Given the description of an element on the screen output the (x, y) to click on. 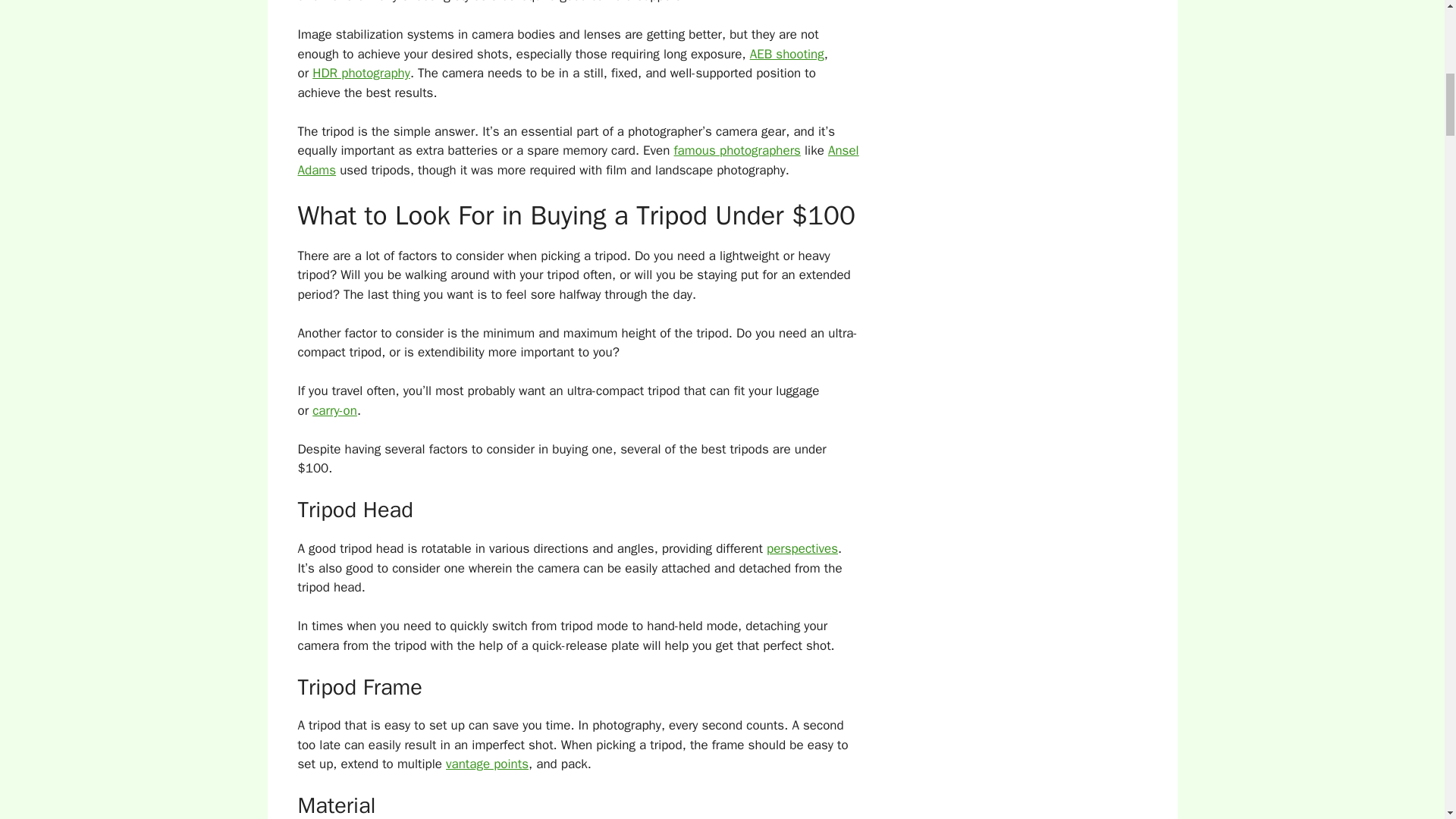
vantage points (486, 763)
carry-on (334, 410)
famous photographers (737, 150)
Ansel Adams (578, 160)
AEB shooting (786, 53)
perspectives (802, 548)
HDR photography (361, 73)
